Given the description of an element on the screen output the (x, y) to click on. 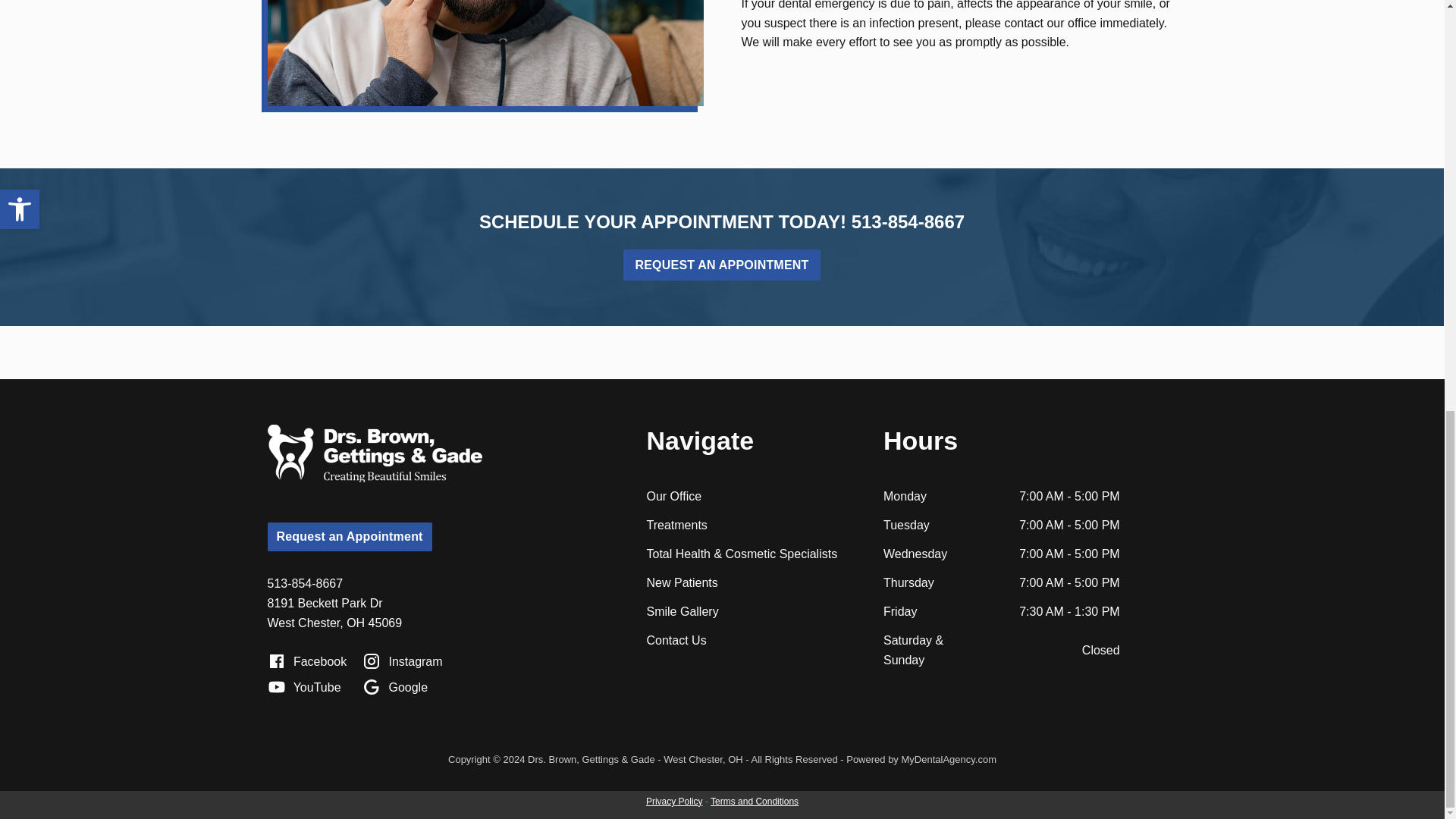
Dental Marketing Agency (948, 758)
Request an Appointment (721, 264)
